Given the description of an element on the screen output the (x, y) to click on. 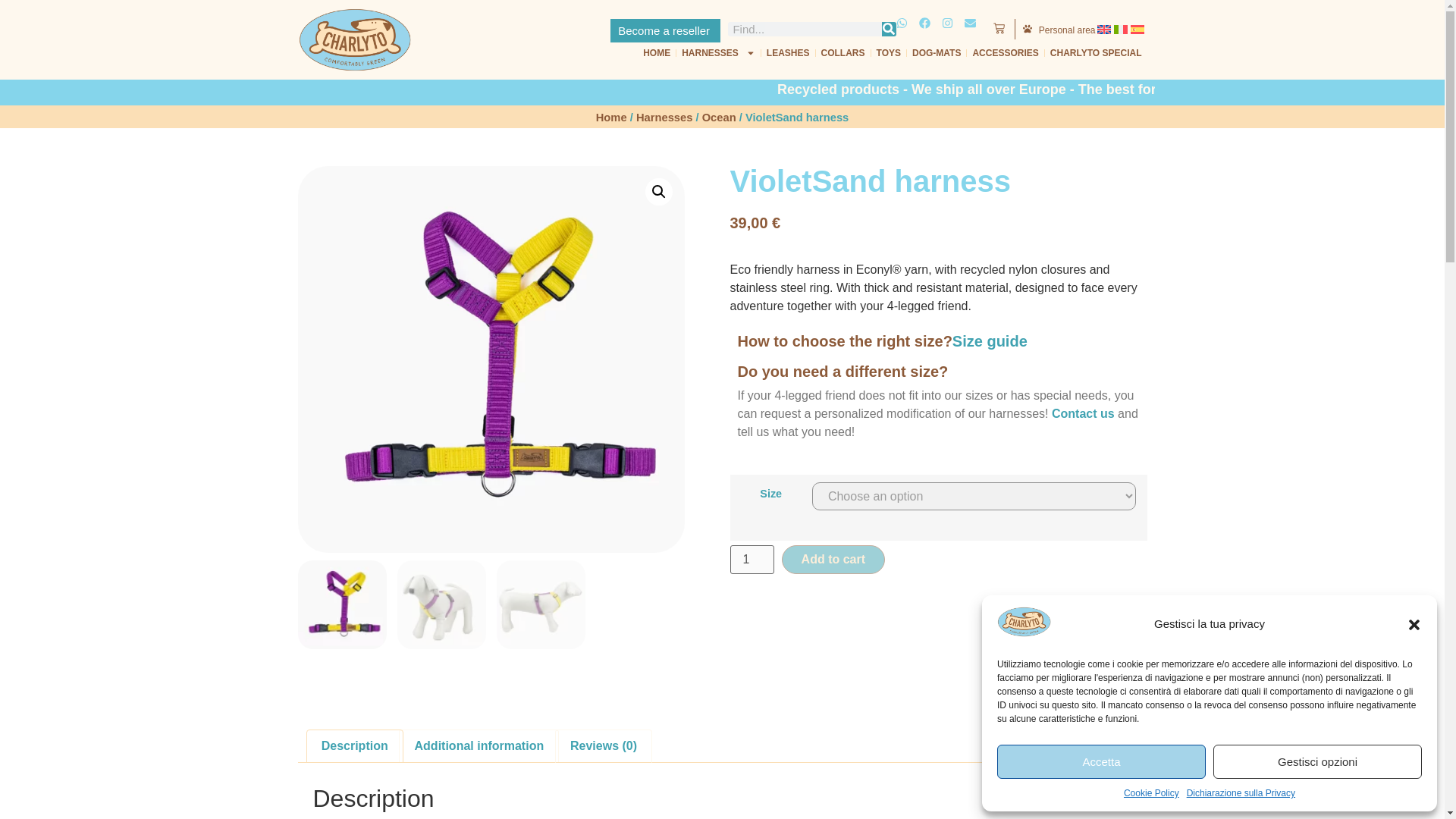
HOME (656, 52)
TOYS (887, 52)
Personal area (1067, 30)
HARNESSES (718, 52)
COLLARS (842, 52)
Dichiarazione sulla Privacy (1240, 793)
Become a reseller (665, 30)
Cookie Policy (1151, 793)
Accetta (1101, 761)
LEASHES (788, 52)
DOG-MATS (936, 52)
ACCESSORIES (1004, 52)
1 (751, 559)
Gestisci opzioni (1317, 761)
